Given the description of an element on the screen output the (x, y) to click on. 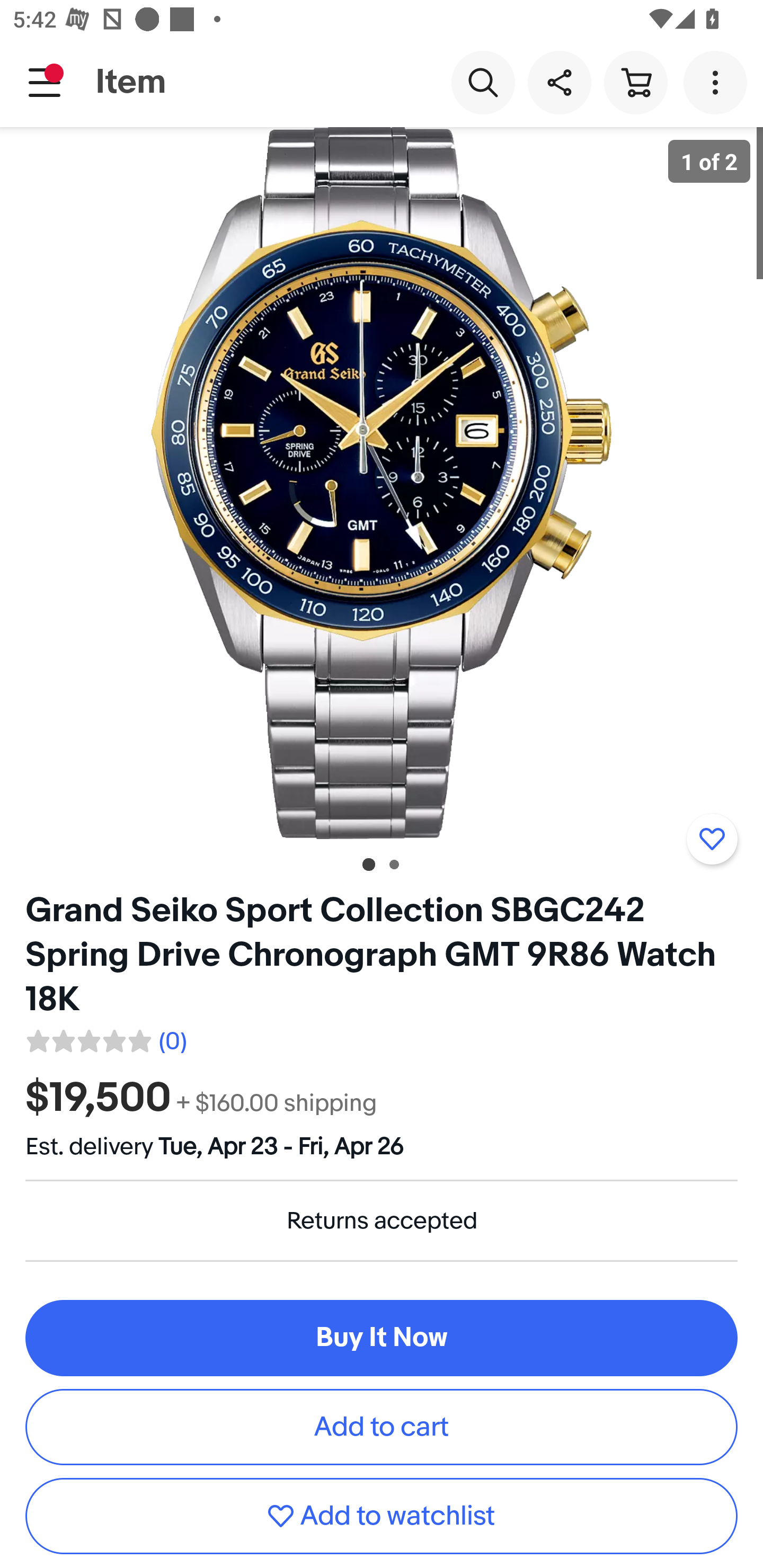
Main navigation, notification is pending, open (44, 82)
Search (482, 81)
Share this item (559, 81)
Cart button shopping cart (635, 81)
More options (718, 81)
Item image 1 of 2 (381, 482)
Add to watchlist (711, 838)
0 reviews. Average rating 0.0 out of five 0.0 (0) (105, 1037)
Buy It Now (381, 1337)
Add to cart (381, 1426)
Add to watchlist (381, 1515)
